Given the description of an element on the screen output the (x, y) to click on. 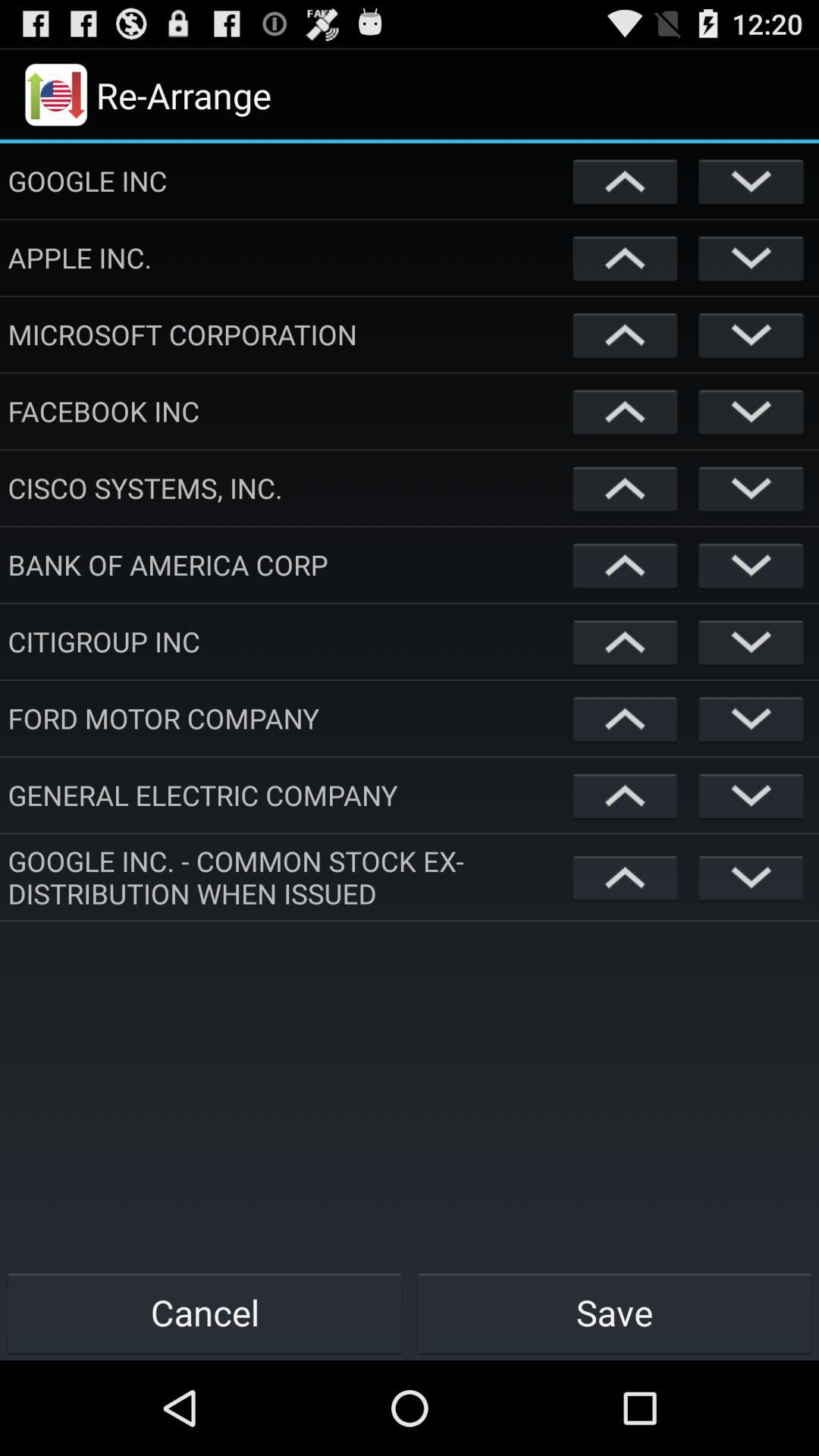
move item down (751, 718)
